Given the description of an element on the screen output the (x, y) to click on. 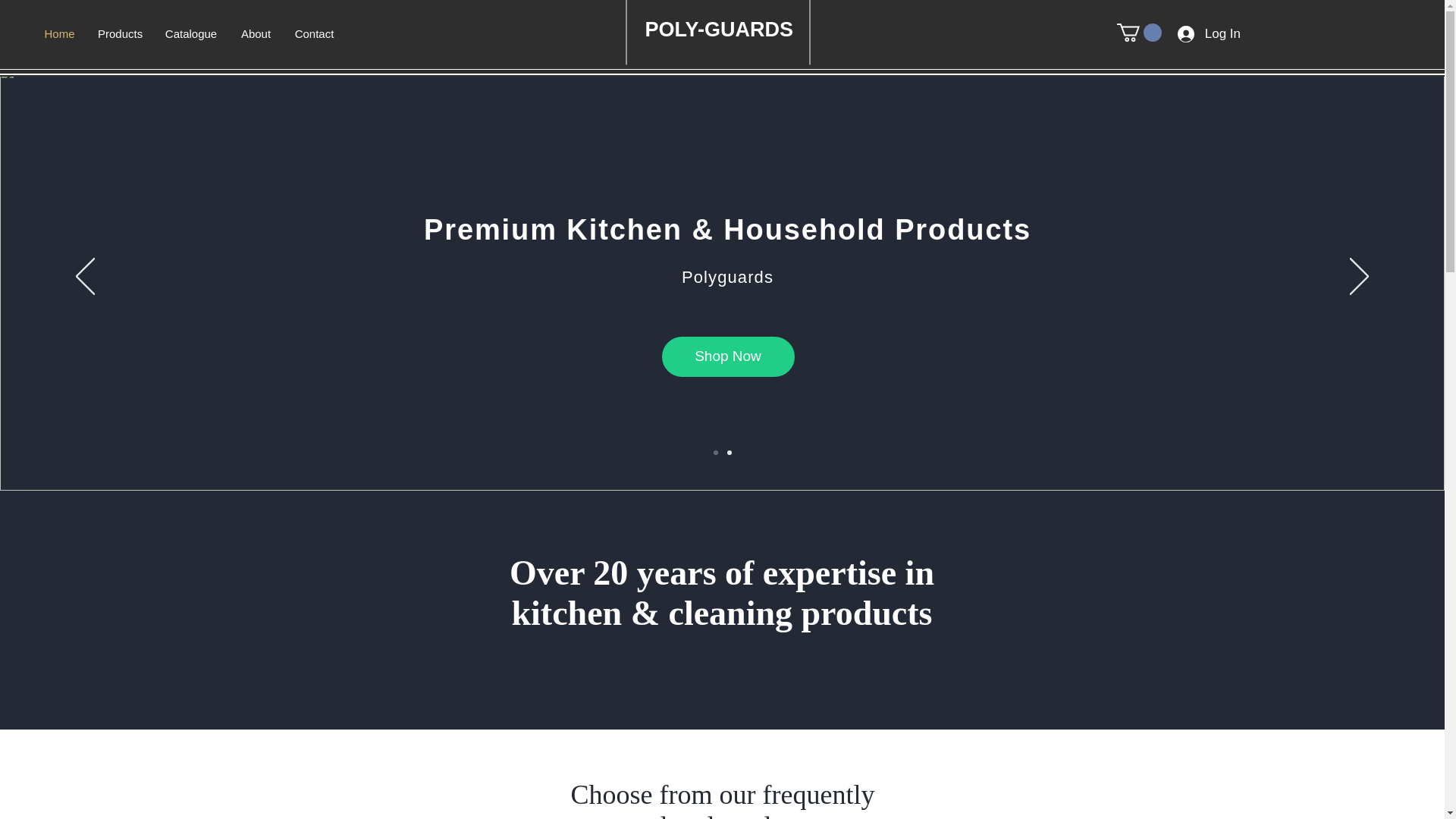
Shop Now (727, 356)
Log In (1208, 33)
POLY-GUARDS  (721, 29)
About (255, 34)
Catalogue (190, 34)
Products (118, 34)
Contact (314, 34)
Home (58, 34)
